Given the description of an element on the screen output the (x, y) to click on. 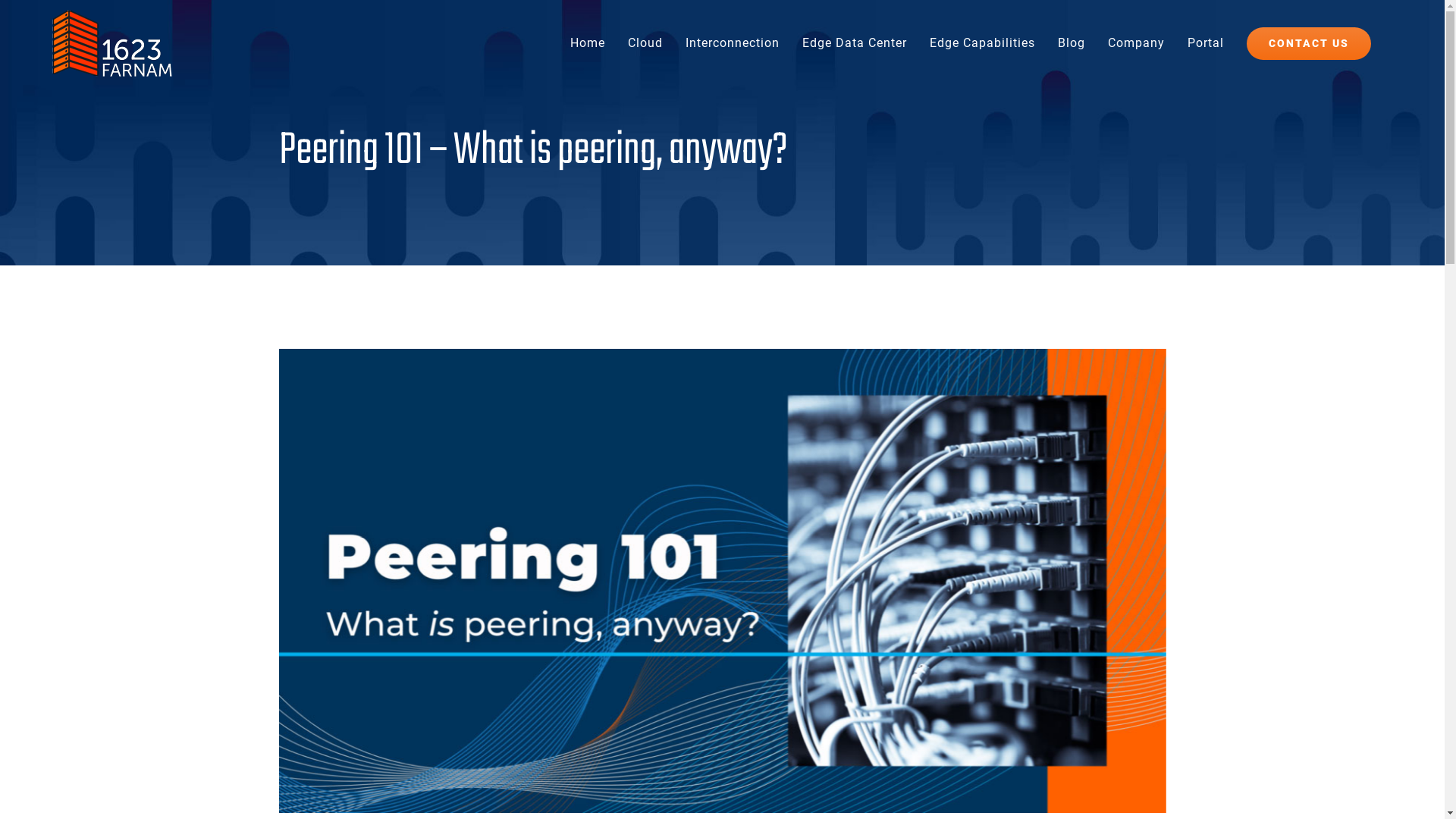
Edge Capabilities Element type: text (982, 43)
Blog Element type: text (1071, 43)
View Larger Image Element type: text (722, 580)
Cloud Element type: text (644, 43)
Portal Element type: text (1205, 43)
Company Element type: text (1135, 43)
CONTACT US Element type: text (1308, 43)
Home Element type: text (587, 43)
Interconnection Element type: text (732, 43)
Edge Data Center Element type: text (854, 43)
